Given the description of an element on the screen output the (x, y) to click on. 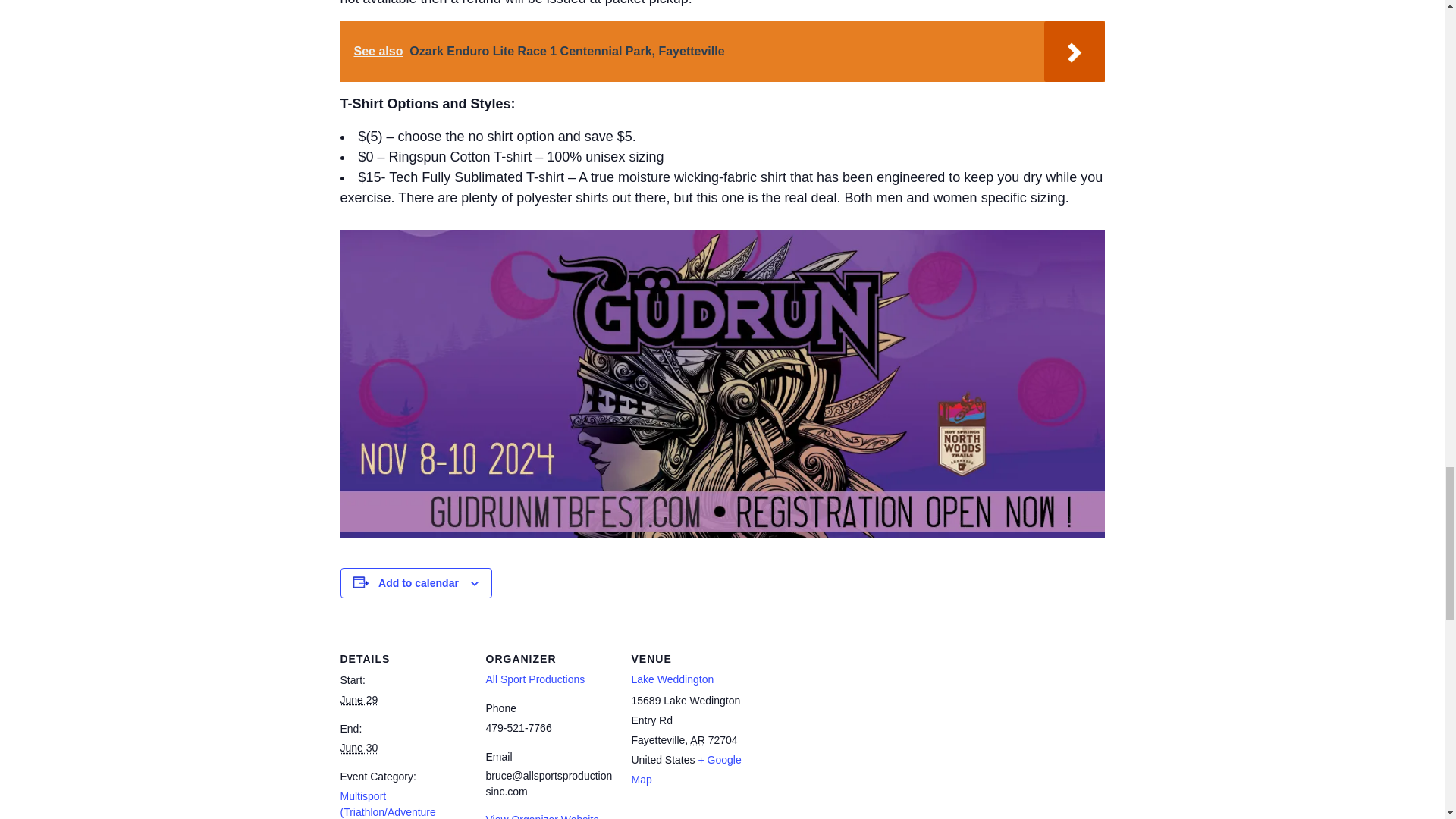
2024-06-30 (358, 747)
Google maps iframe displaying the address to Lake Weddington (856, 726)
2024-06-29 (358, 699)
Add to calendar (418, 582)
Arkansas (697, 739)
All Sport Productions (534, 679)
Click to view a Google Map (685, 769)
